Given the description of an element on the screen output the (x, y) to click on. 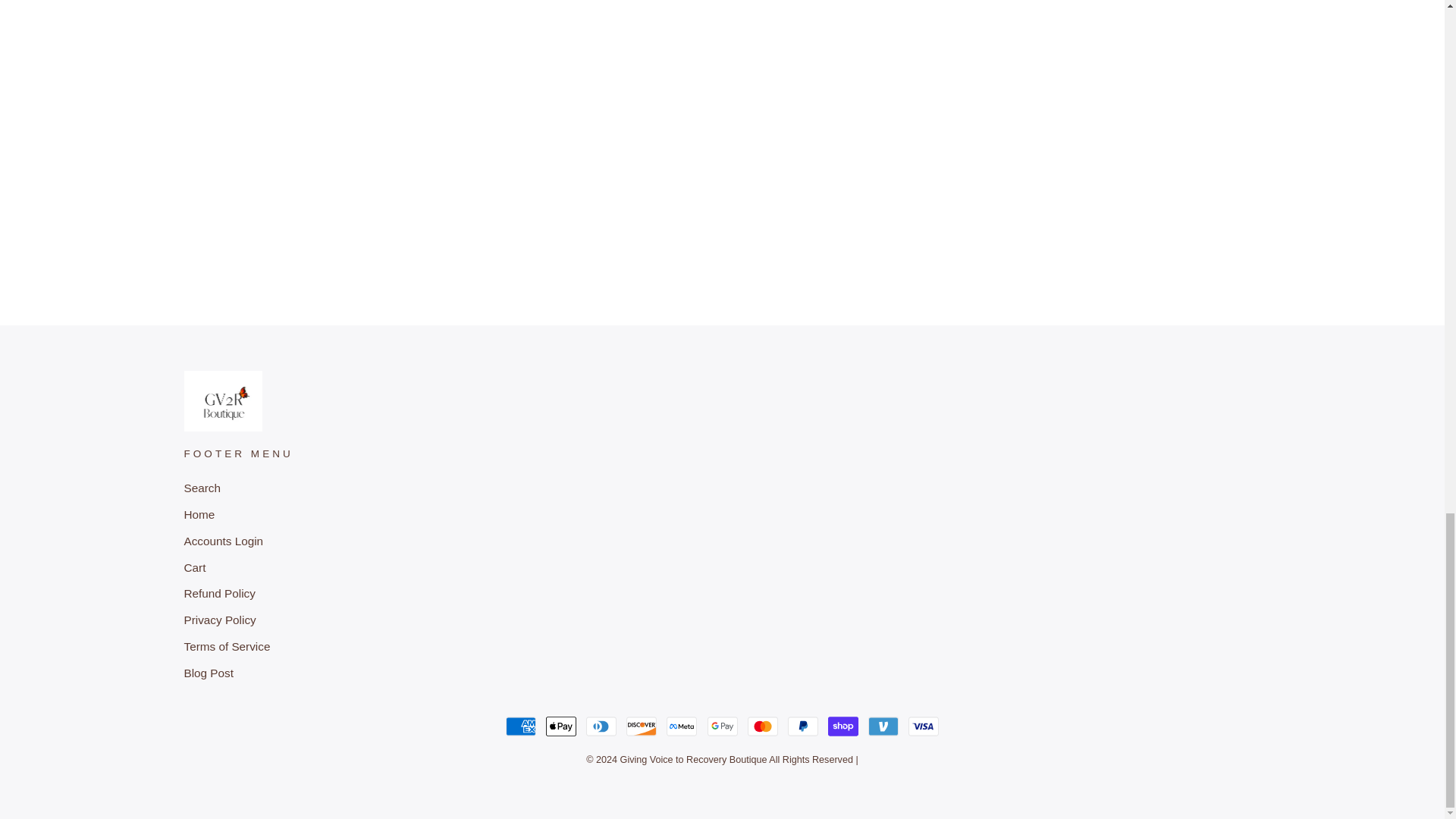
Apple Pay (561, 726)
Shop Pay (843, 726)
Google Pay (721, 726)
Discover (641, 726)
Meta Pay (681, 726)
PayPal (802, 726)
Diners Club (600, 726)
American Express (520, 726)
Mastercard (762, 726)
